Given the description of an element on the screen output the (x, y) to click on. 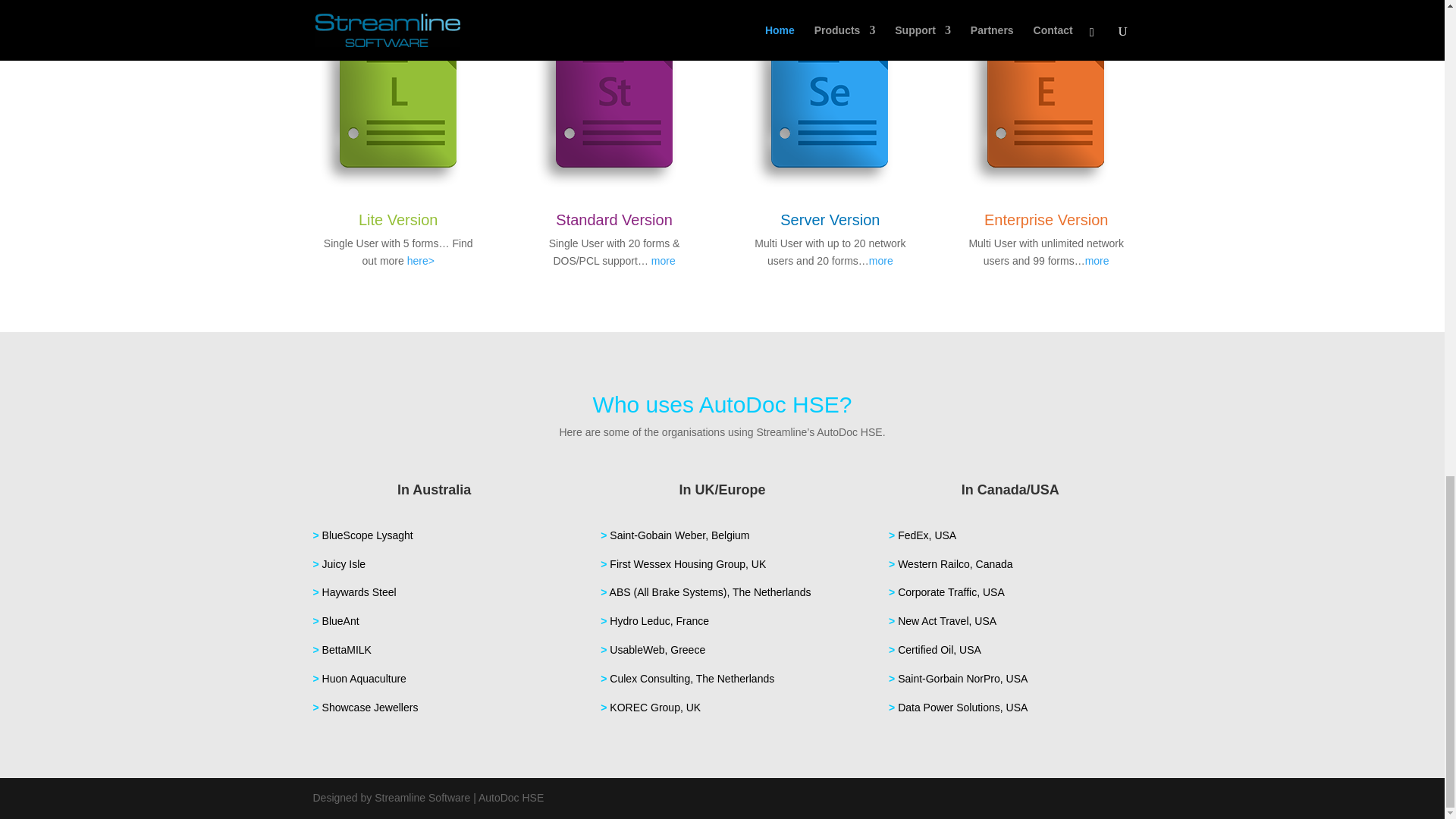
more (881, 260)
more (1096, 260)
Juicy Isle (343, 563)
BlueScope Lysaght (367, 535)
more (662, 260)
